Given the description of an element on the screen output the (x, y) to click on. 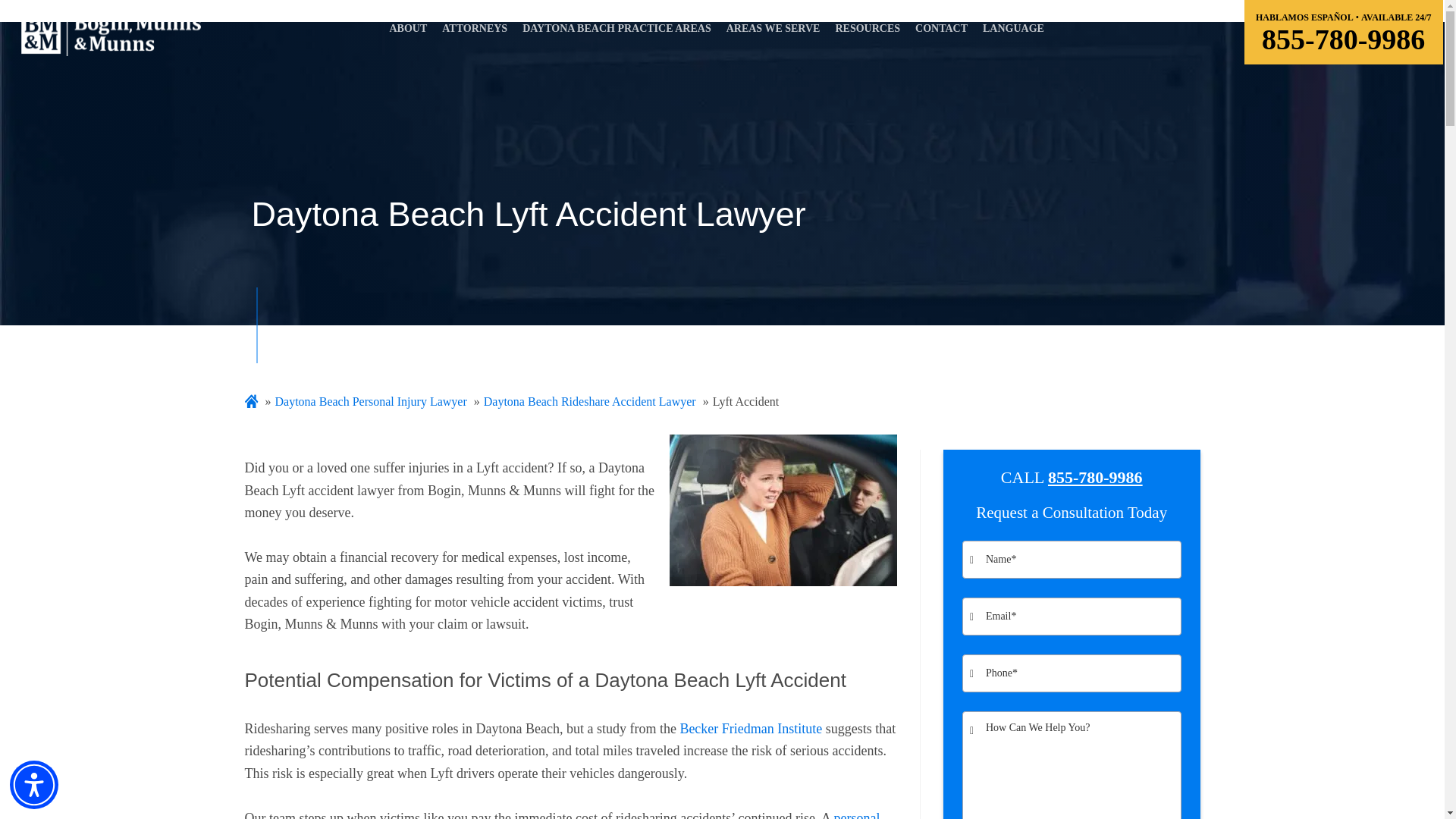
ATTORNEYS (474, 32)
DAYTONA BEACH PRACTICE AREAS (616, 32)
AREAS WE SERVE (773, 32)
RESOURCES (867, 32)
Accessibility Menu (34, 784)
